Given the description of an element on the screen output the (x, y) to click on. 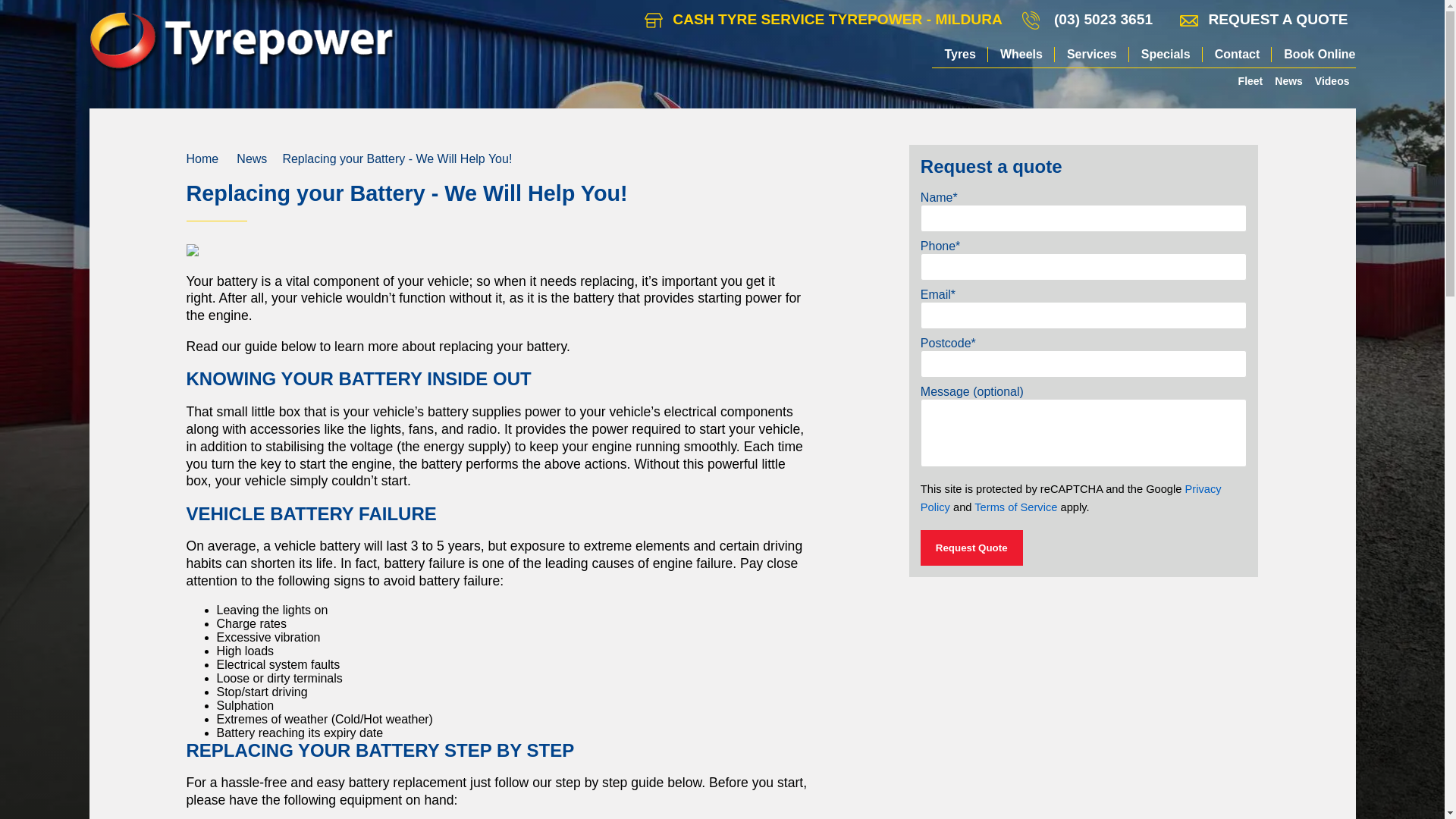
Contact (1237, 54)
CASH TYRE SERVICE TYREPOWER - MILDURA (823, 20)
Specials (1165, 54)
Click to call now! (1103, 20)
Fleet (1250, 80)
Tyres (959, 54)
Book Online (1313, 54)
Videos (1331, 80)
News (1288, 80)
Wheels (1021, 54)
Services (1091, 54)
Contact Cash Tyre Service Tyrepower -  Mildura (823, 20)
REQUEST A QUOTE (1263, 20)
